Given the description of an element on the screen output the (x, y) to click on. 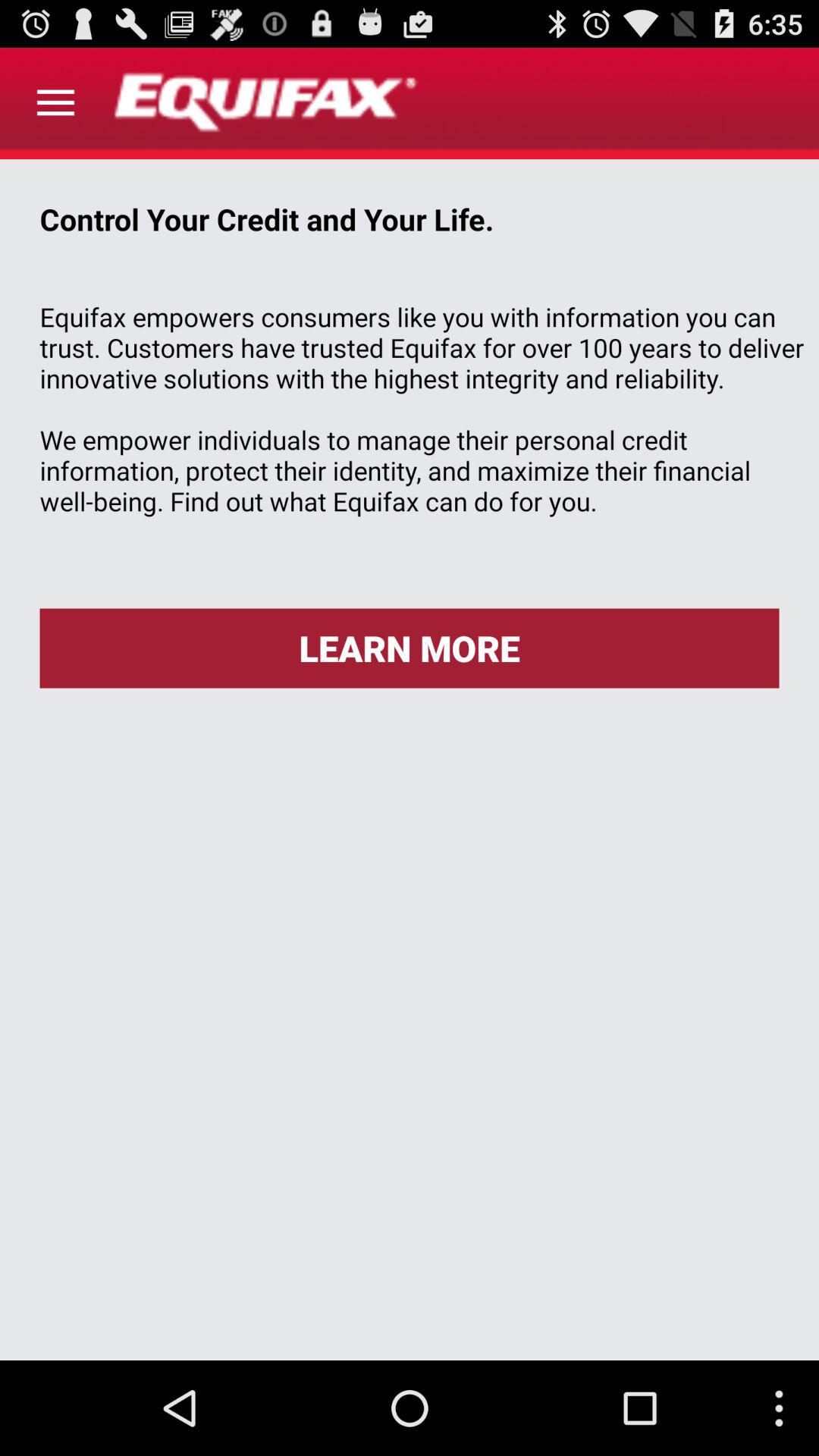
choose learn more (409, 648)
